Given the description of an element on the screen output the (x, y) to click on. 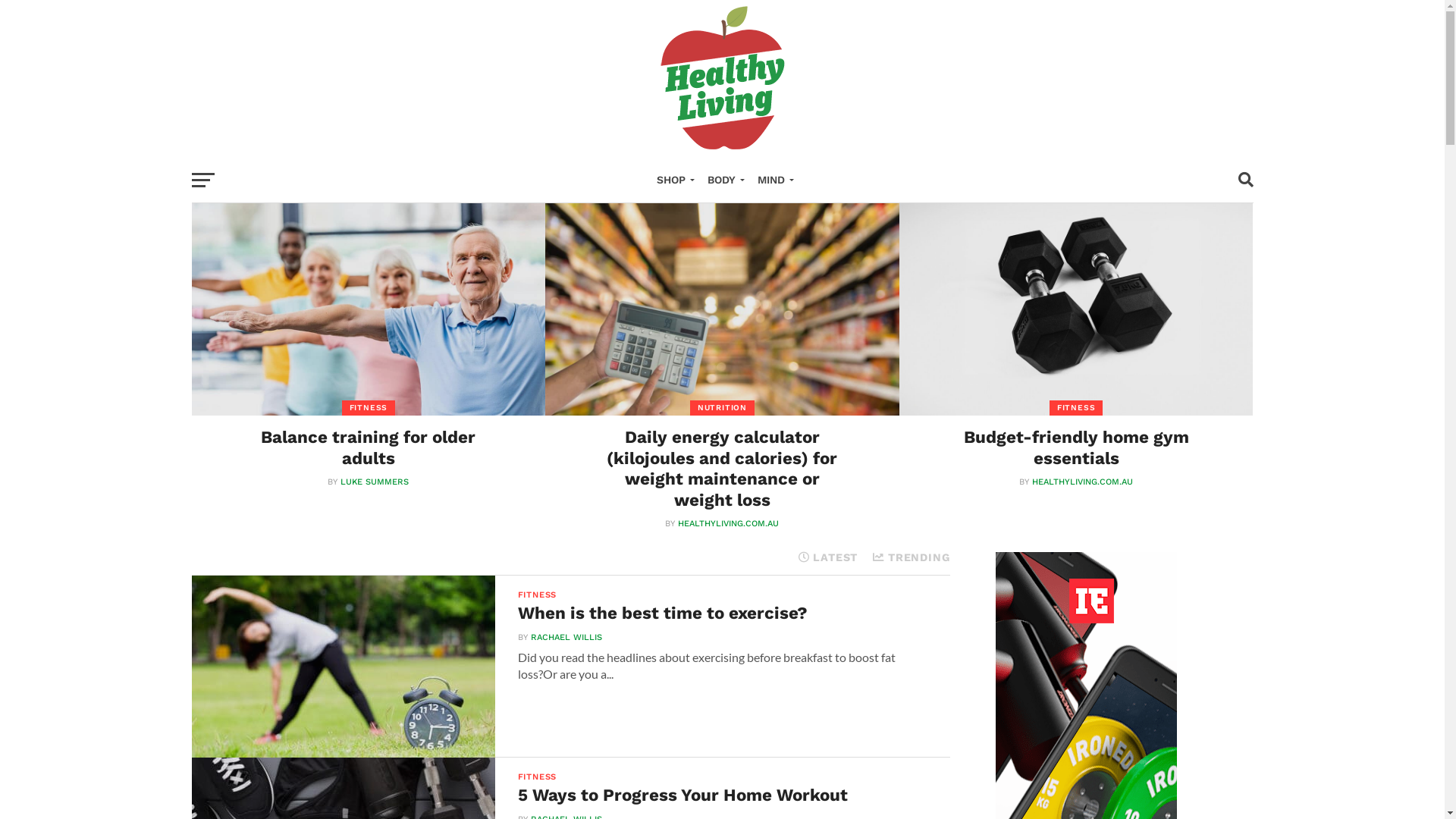
SHOP Element type: text (672, 180)
LATEST Element type: text (828, 557)
BODY Element type: text (722, 180)
MIND Element type: text (772, 180)
TRENDING Element type: text (910, 557)
LUKE SUMMERS Element type: text (374, 481)
HEALTHYLIVING.COM.AU Element type: text (727, 523)
HEALTHYLIVING.COM.AU Element type: text (1082, 481)
RACHAEL WILLIS Element type: text (566, 637)
